Given the description of an element on the screen output the (x, y) to click on. 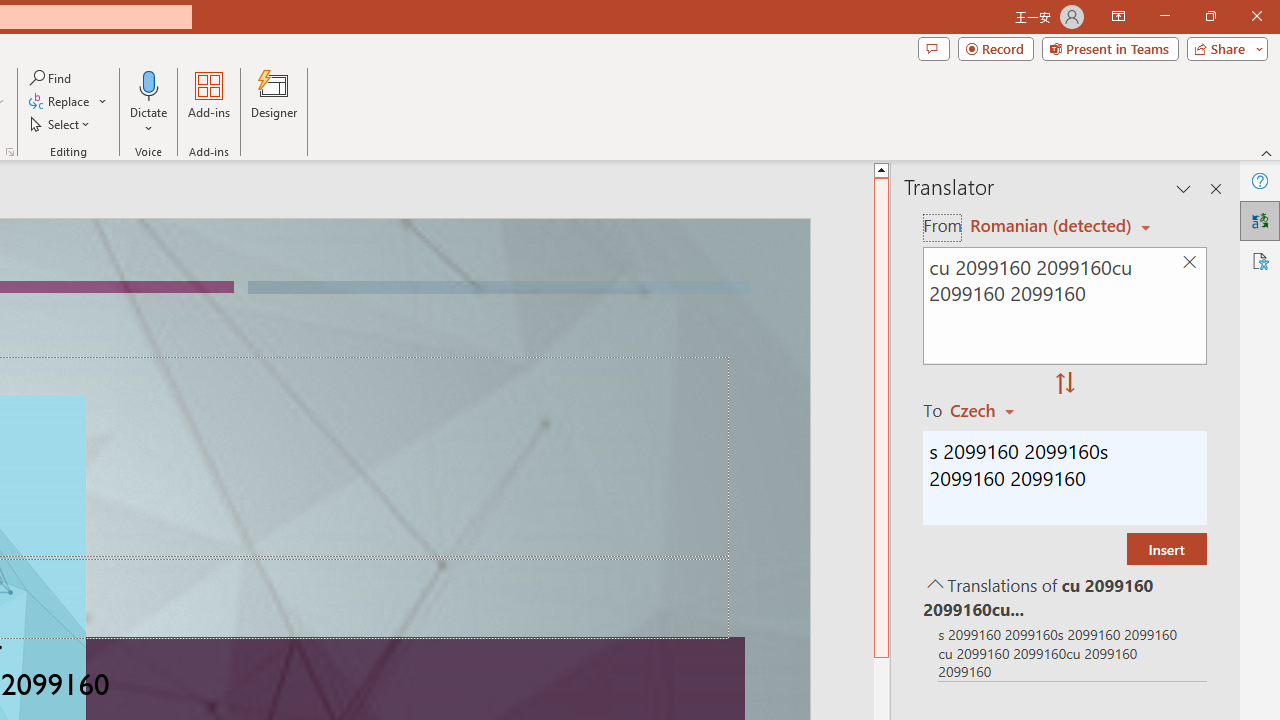
Czech (991, 409)
Accessibility (1260, 260)
Replace... (60, 101)
Format Object... (9, 151)
Line up (880, 169)
Find... (51, 78)
Translations of cu 2099160 2099160cu 2099160 2099160 (1064, 596)
Task Pane Options (1183, 188)
